Given the description of an element on the screen output the (x, y) to click on. 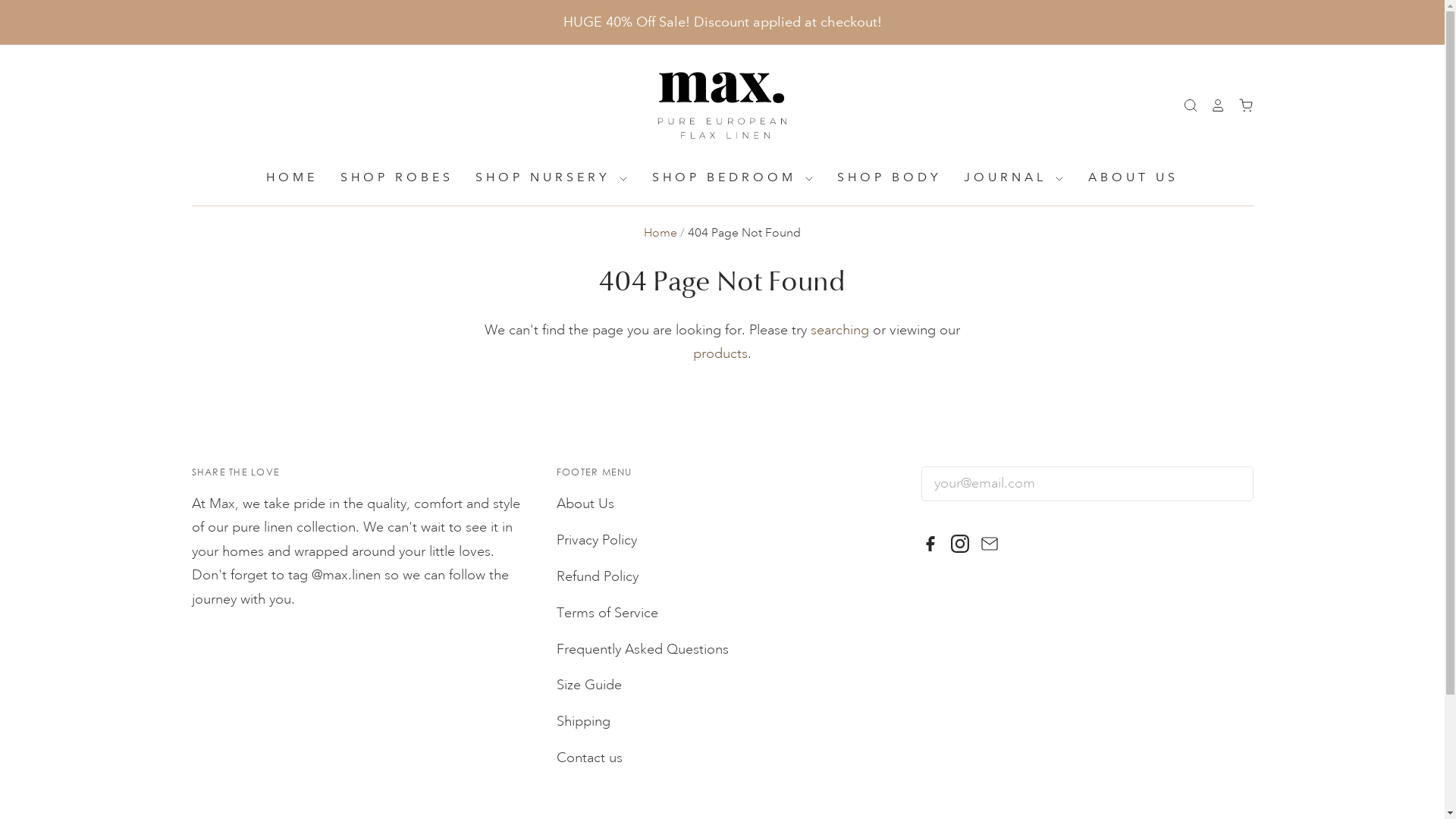
SHOP BODY Element type: text (878, 177)
Terms of Service Element type: text (607, 612)
SHOP NURSERY Element type: text (542, 177)
SHOP BEDROOM Element type: text (722, 177)
Shipping Element type: text (583, 720)
JOURNAL Element type: text (1004, 177)
SHOP ROBES Element type: text (385, 177)
Home Element type: text (660, 232)
HOME Element type: text (291, 177)
searching Element type: text (839, 329)
Privacy Policy Element type: text (596, 539)
Frequently Asked Questions Element type: text (642, 648)
Size Guide Element type: text (588, 684)
products Element type: text (720, 353)
About Us Element type: text (585, 503)
Refund Policy Element type: text (597, 575)
ABOUT US Element type: text (1122, 177)
HUGE 40% Off Sale! Discount applied at checkout! Element type: text (722, 22)
Contact us Element type: text (589, 757)
